Given the description of an element on the screen output the (x, y) to click on. 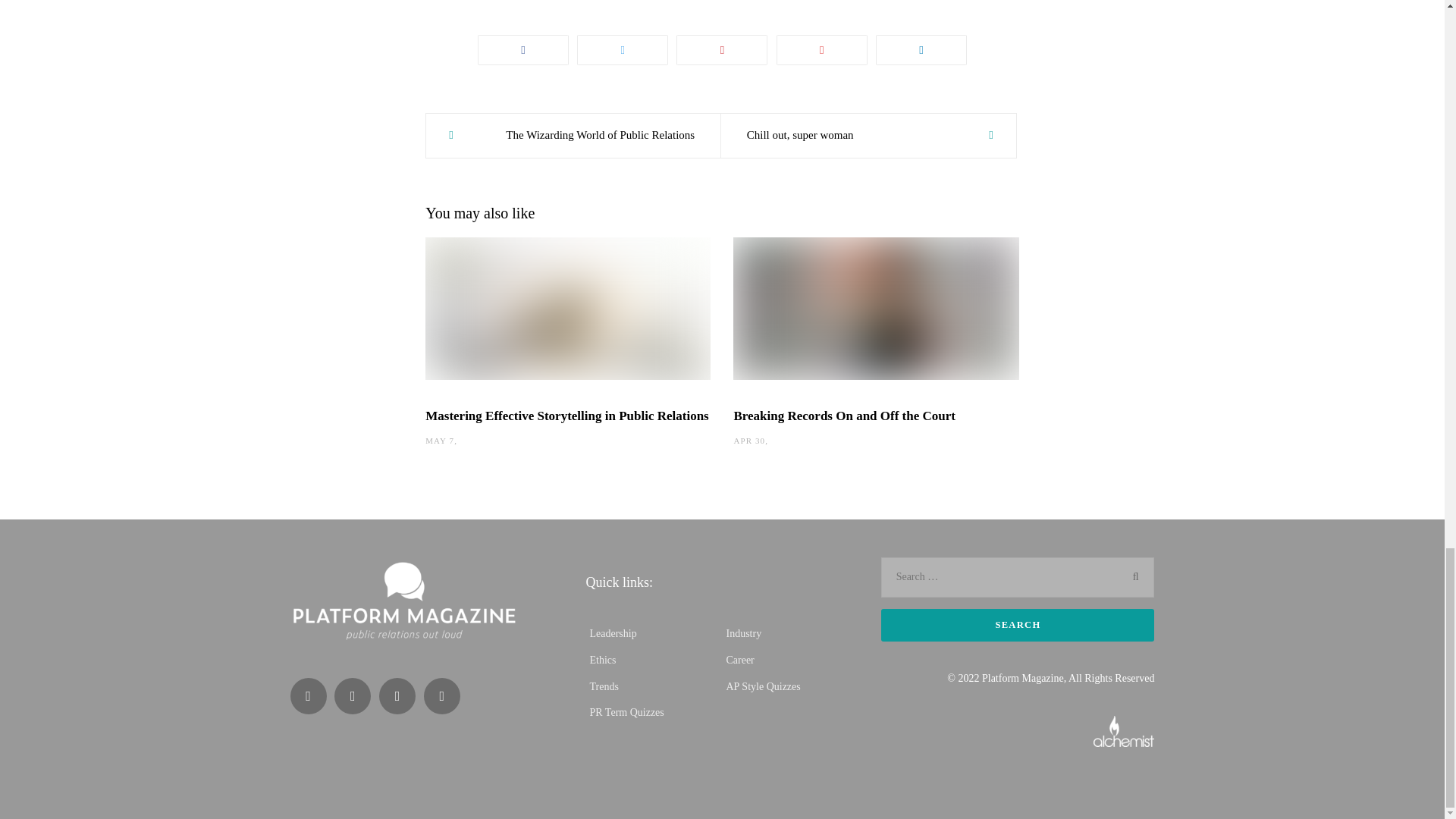
Chill out, super woman (868, 135)
Tuesday, May 7, 2024, 2:05 pm (439, 440)
Alchemist-Logo-White-1920x974 (1123, 730)
Mastering Effective Storytelling in Public Relations (566, 415)
Search (1017, 625)
The Wizarding World of Public Relations (572, 135)
Search (1017, 625)
Tuesday, April 30, 2024, 1:39 pm (749, 440)
